Given the description of an element on the screen output the (x, y) to click on. 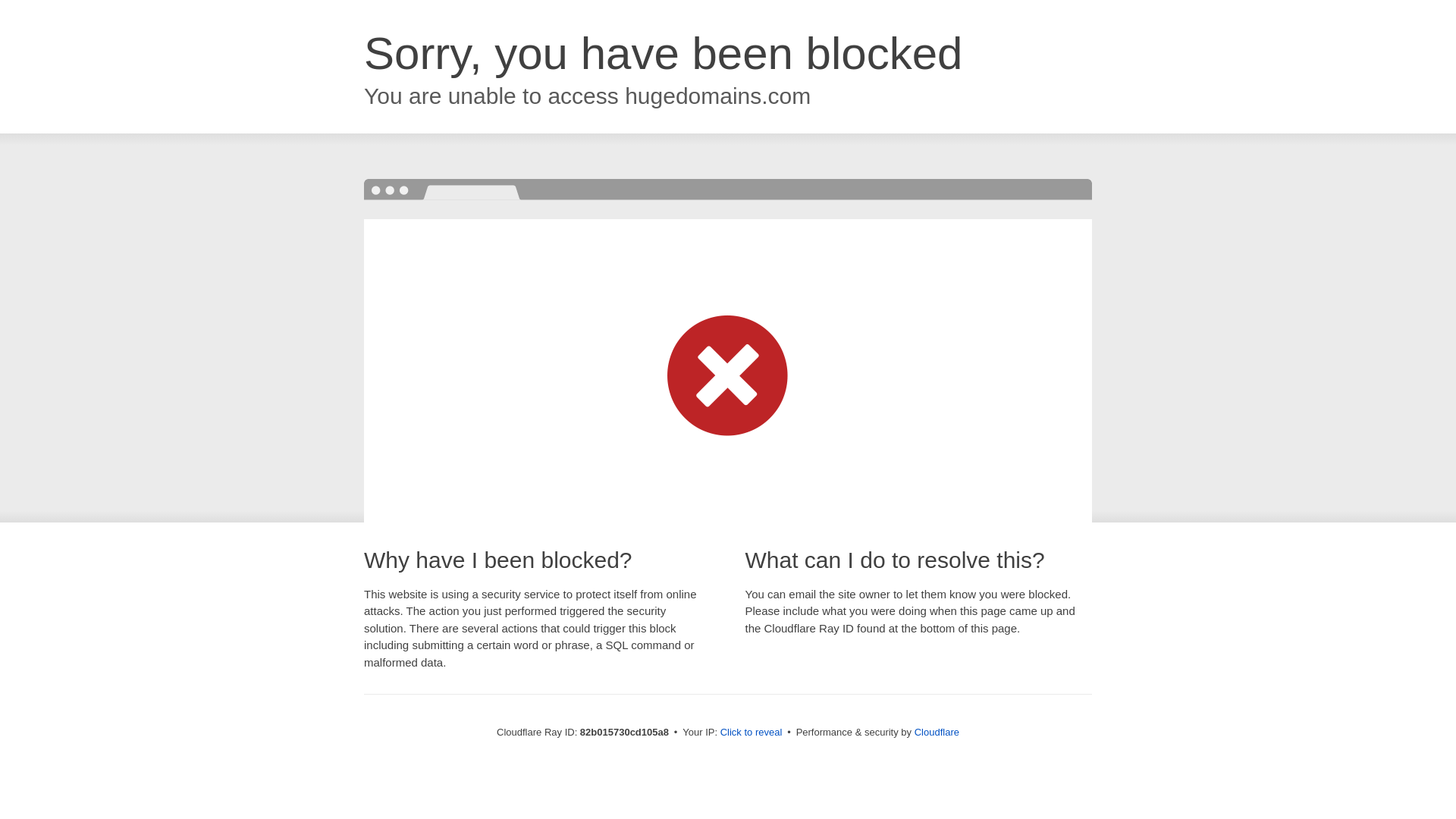
Cloudflare Element type: text (936, 731)
Click to reveal Element type: text (751, 732)
